Given the description of an element on the screen output the (x, y) to click on. 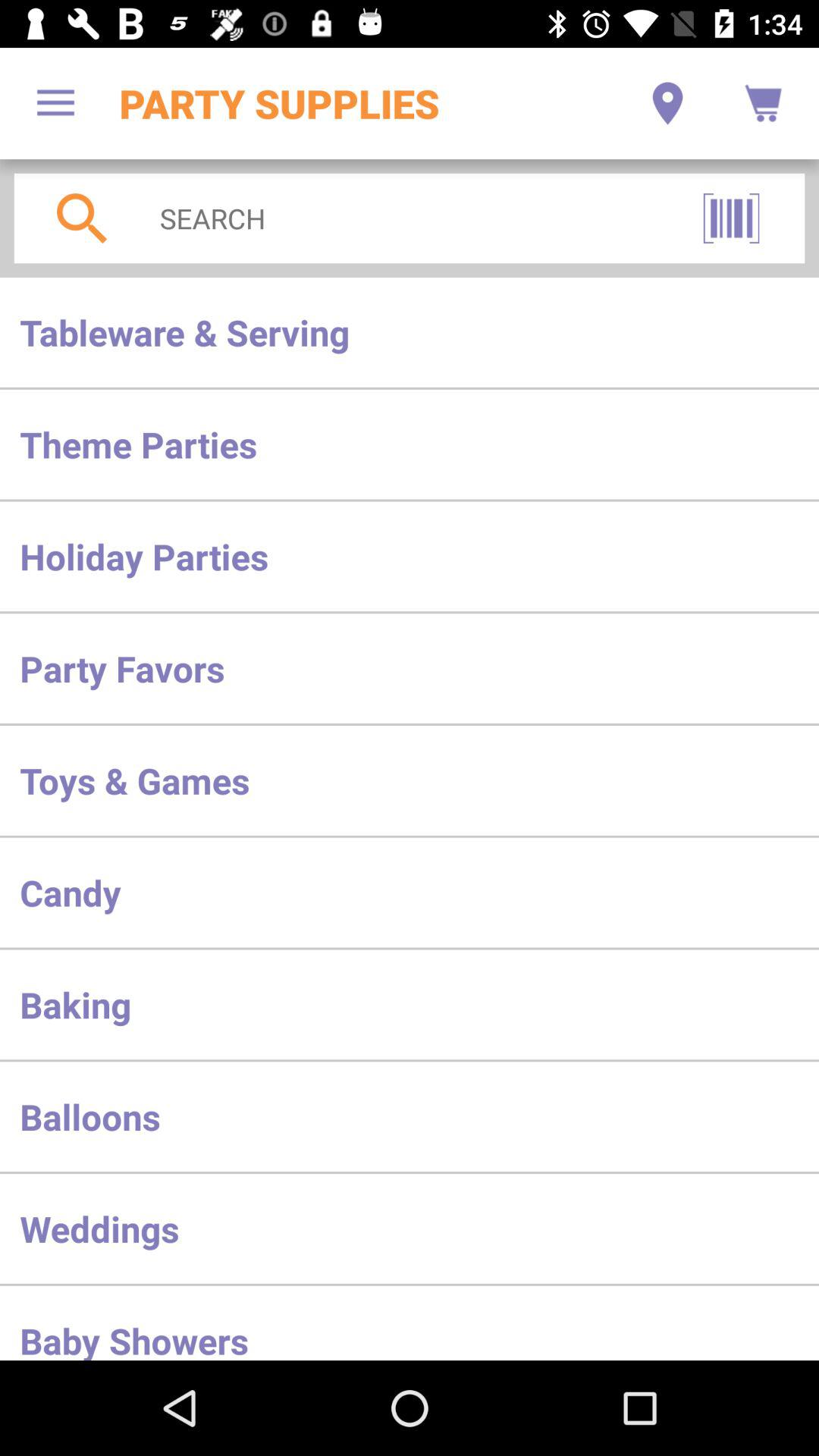
click on search below party supplies (403, 218)
click the search icon left to search (81, 218)
click on icon on the top right corner (763, 103)
